Given the description of an element on the screen output the (x, y) to click on. 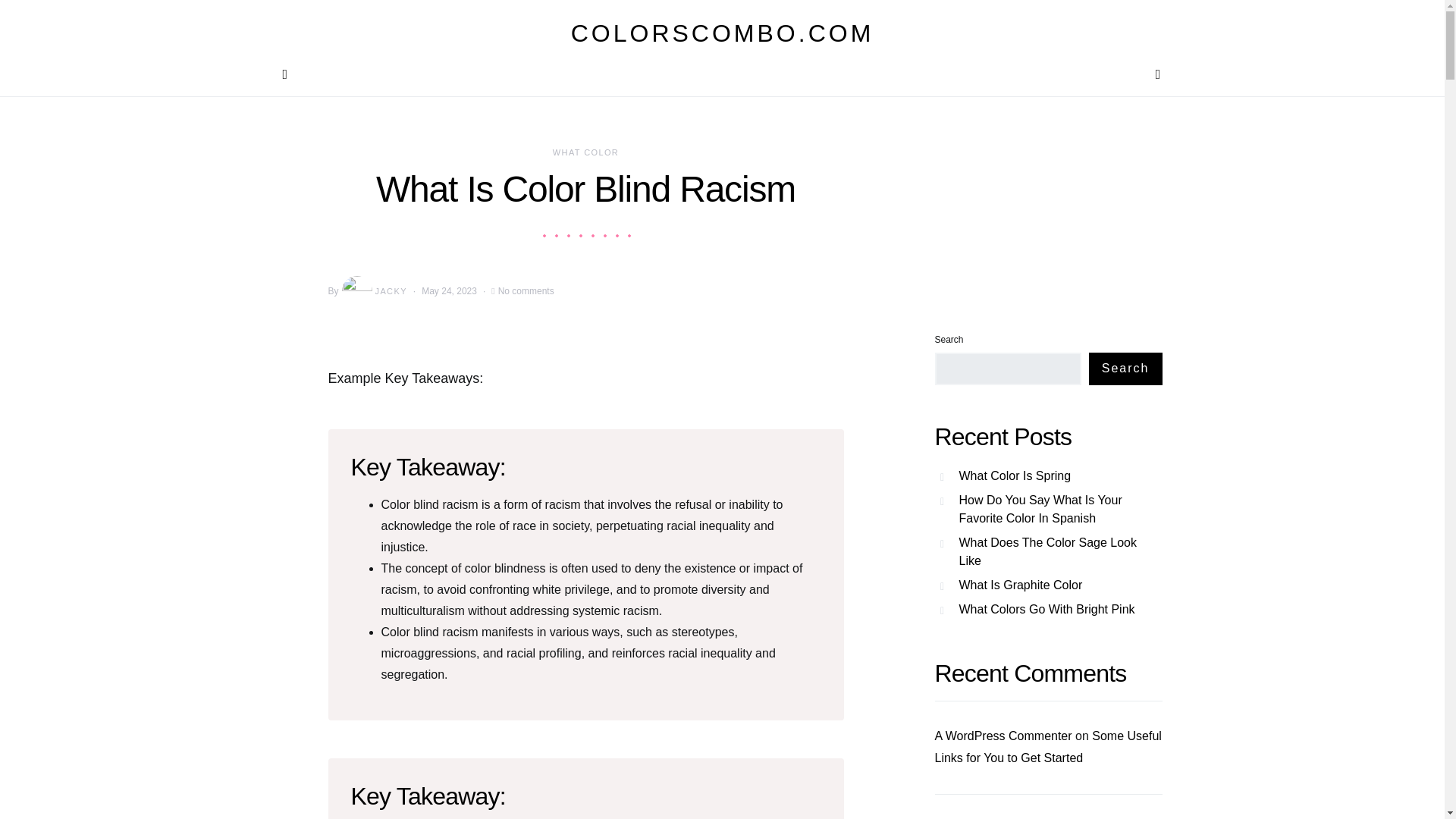
View all posts by Jacky (373, 291)
COLORSCOMBO.COM (722, 33)
No comments (525, 291)
WHAT COLOR (585, 152)
JACKY (373, 291)
